Given the description of an element on the screen output the (x, y) to click on. 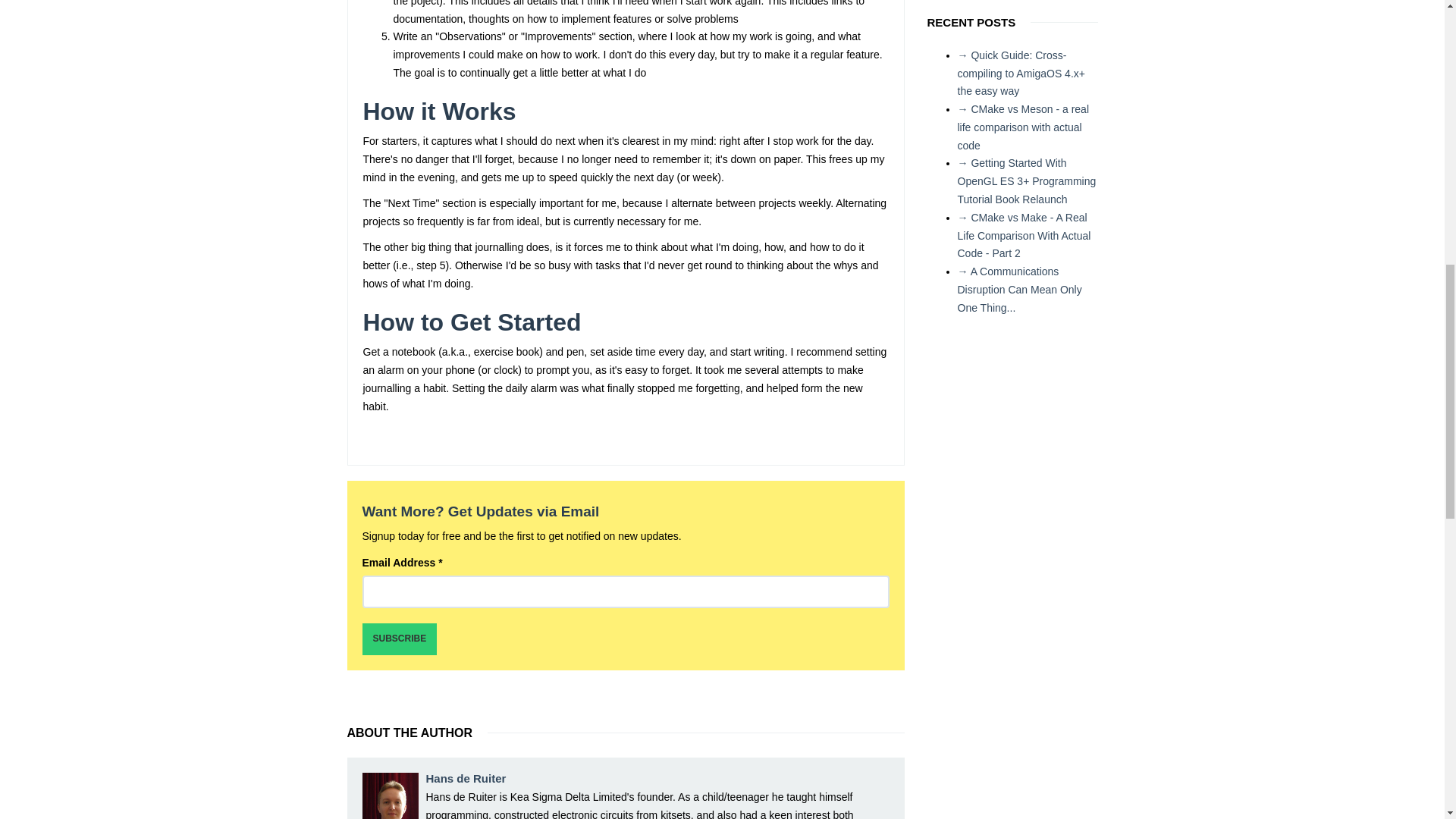
Hans de Ruiter (466, 778)
Subscribe (400, 638)
View entries were posted by Hans de Ruiter (390, 796)
Subscribe (400, 638)
View entries were posted by Hans de Ruiter (466, 778)
